Given the description of an element on the screen output the (x, y) to click on. 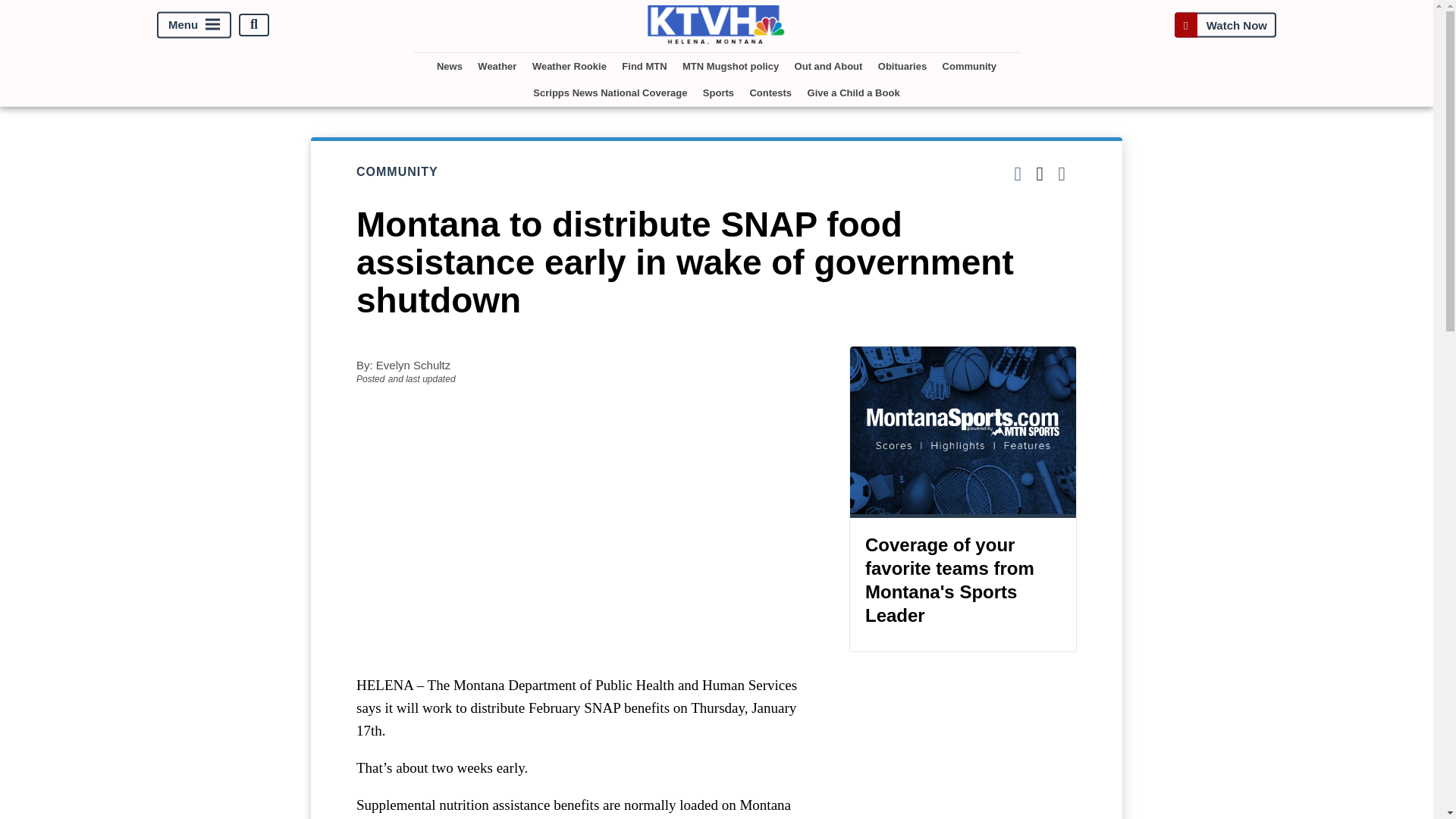
Watch Now (1224, 24)
Menu (194, 24)
YouTube player (587, 529)
